Given the description of an element on the screen output the (x, y) to click on. 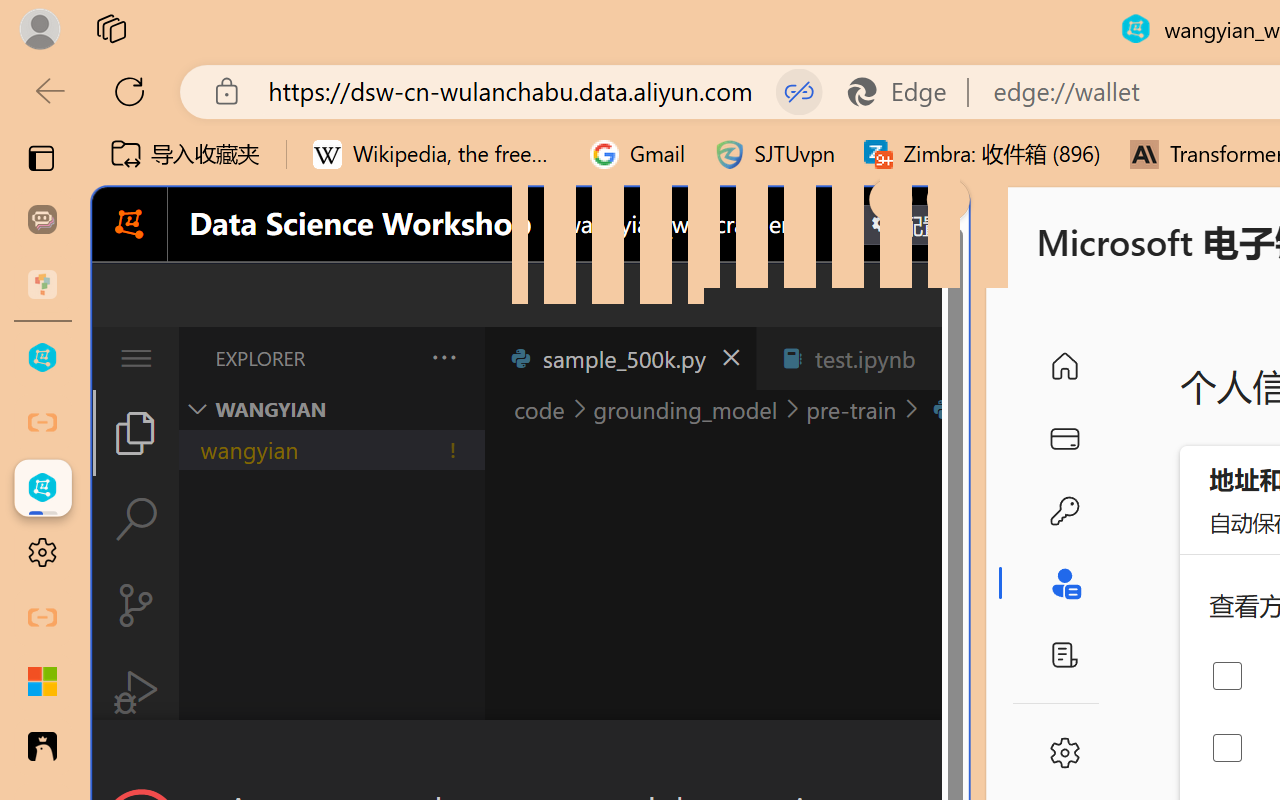
Explorer actions (391, 358)
Close (Ctrl+F4) (946, 358)
Edge (905, 91)
Application Menu (135, 358)
Tab actions (945, 358)
SJTUvpn (774, 154)
Class: actions-container (529, 756)
Run and Debug (Ctrl+Shift+D) (135, 692)
